Given the description of an element on the screen output the (x, y) to click on. 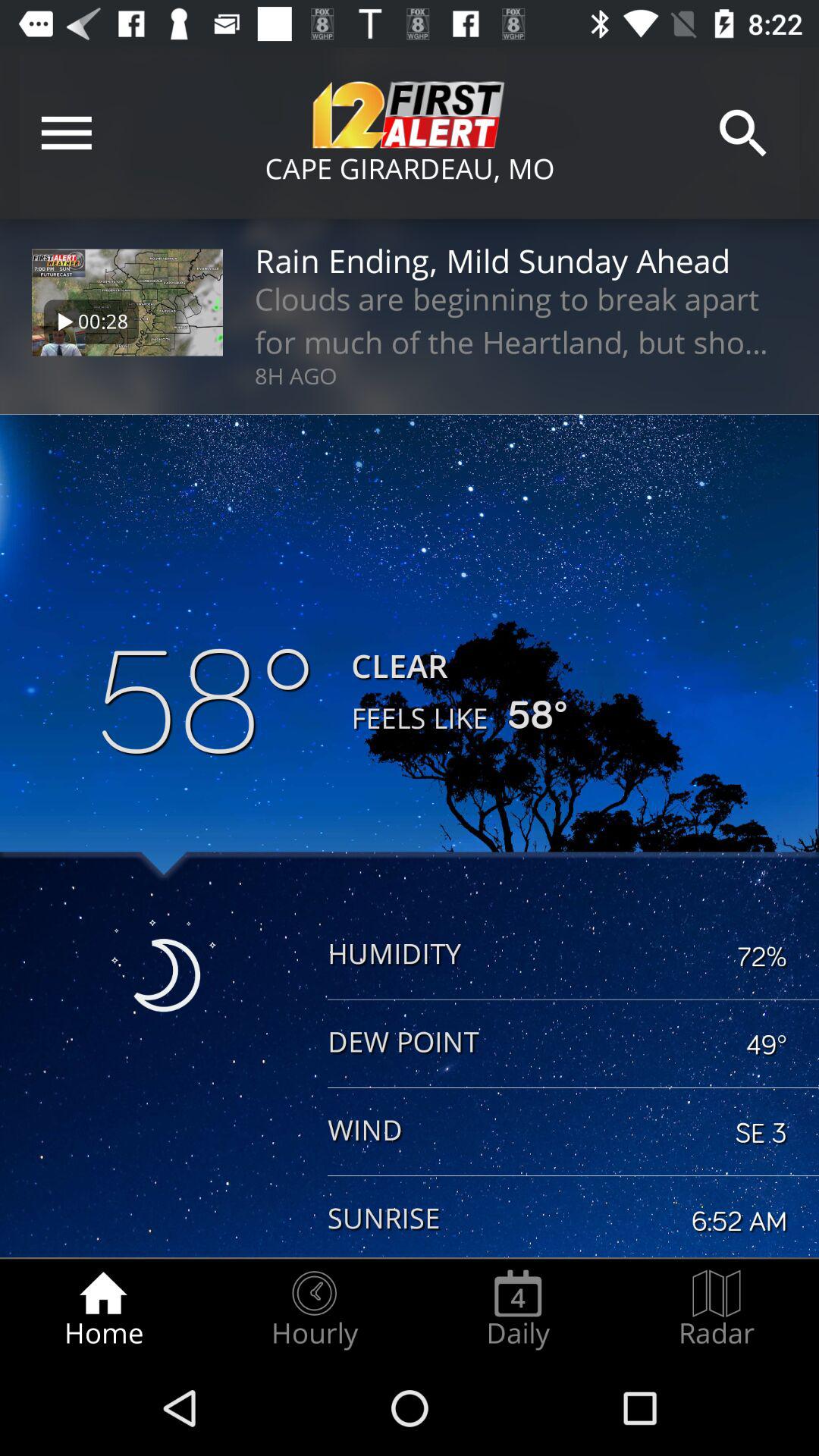
choose radio button next to the radar item (518, 1309)
